Given the description of an element on the screen output the (x, y) to click on. 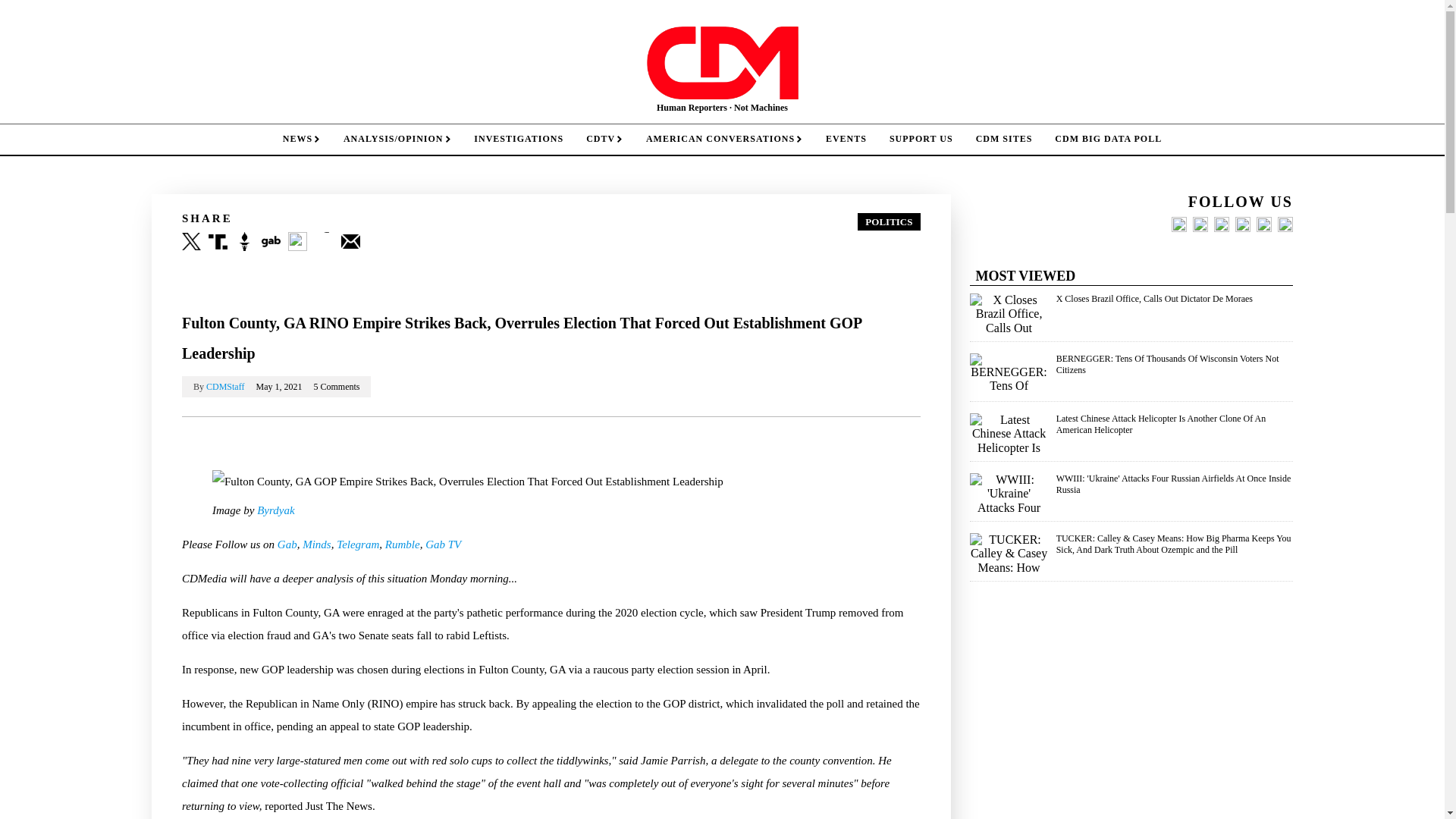
CDTV (604, 139)
AMERICAN CONVERSATIONS (723, 139)
NEWS (300, 139)
INVESTIGATIONS (519, 139)
